Given the description of an element on the screen output the (x, y) to click on. 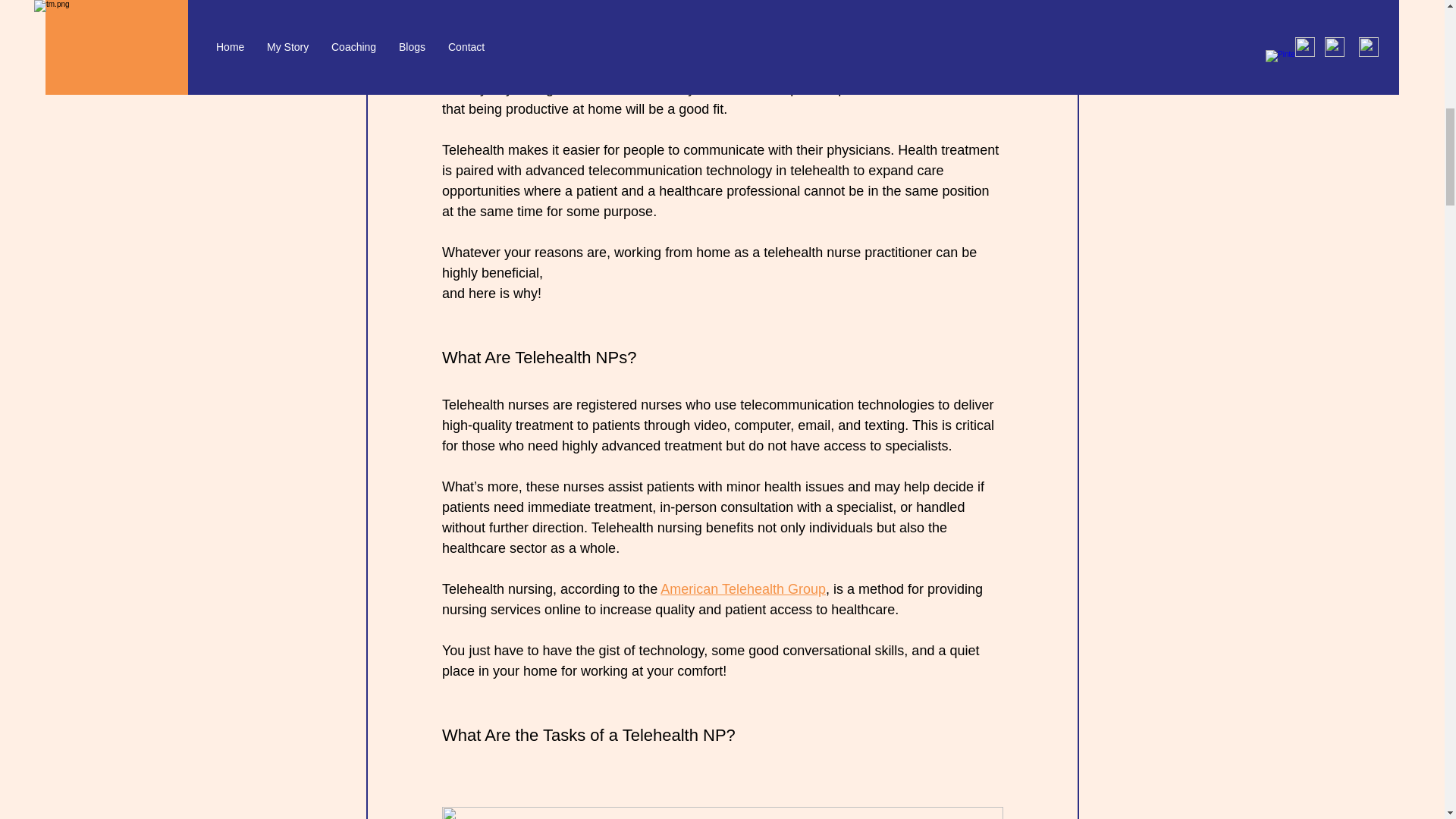
American Telehealth Group (743, 589)
